Given the description of an element on the screen output the (x, y) to click on. 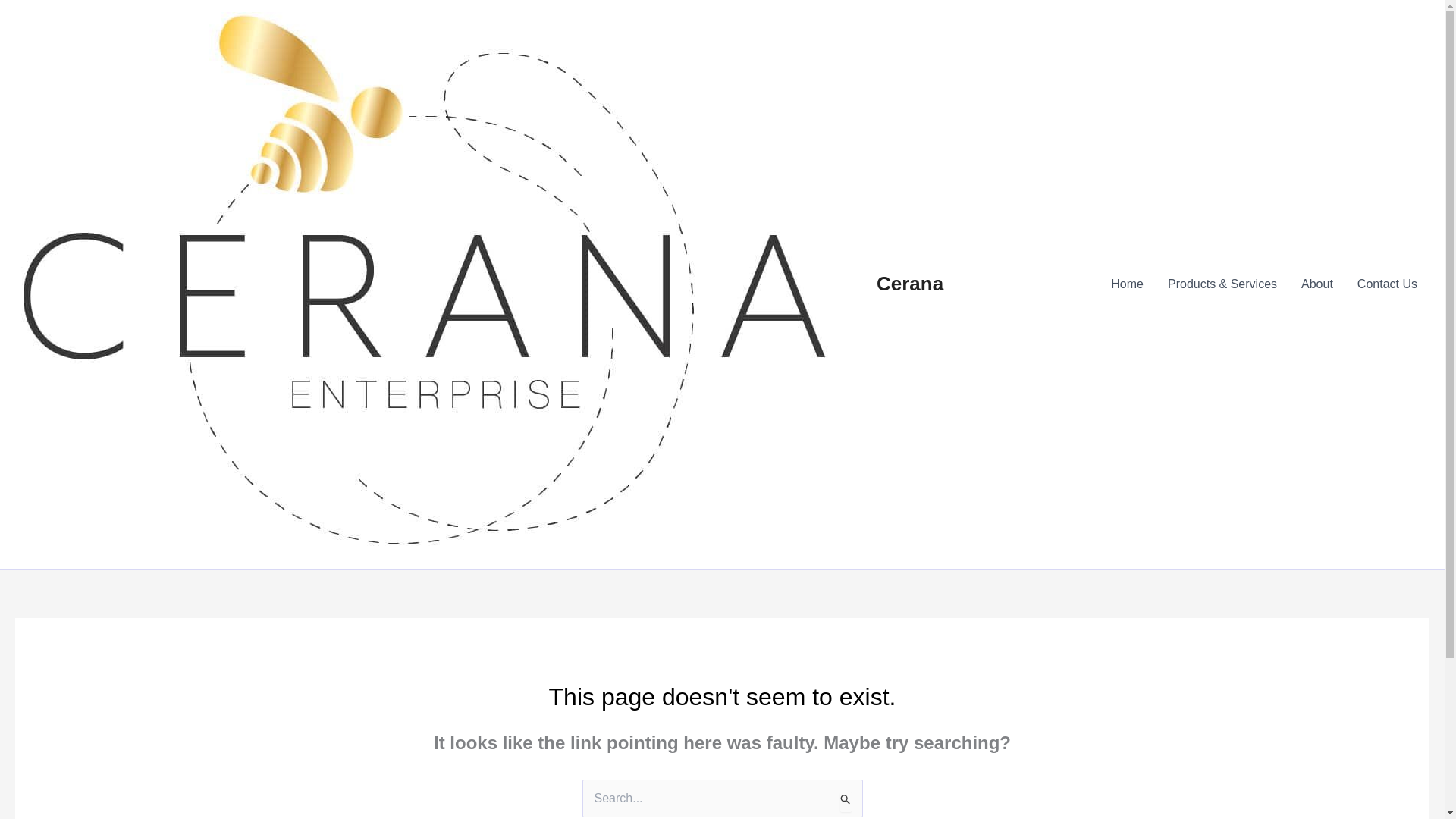
About (1316, 283)
Cerana (909, 282)
Contact Us (1387, 283)
Home (1127, 283)
